Given the description of an element on the screen output the (x, y) to click on. 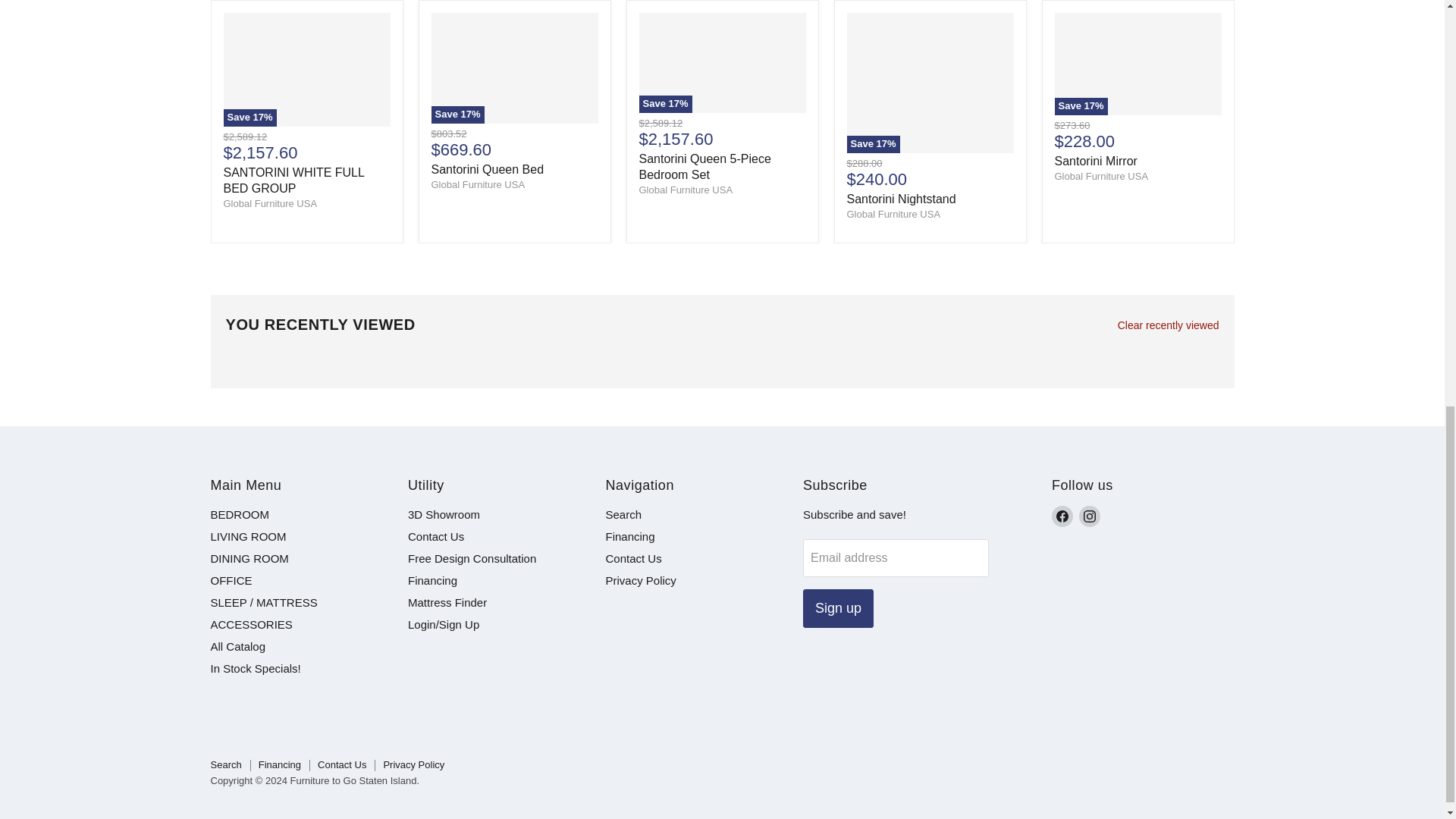
Instagram (1089, 516)
Global Furniture USA (685, 189)
Global Furniture USA (269, 203)
Global Furniture USA (1101, 175)
Global Furniture USA (477, 184)
Global Furniture USA (892, 214)
Facebook (1062, 516)
